Given the description of an element on the screen output the (x, y) to click on. 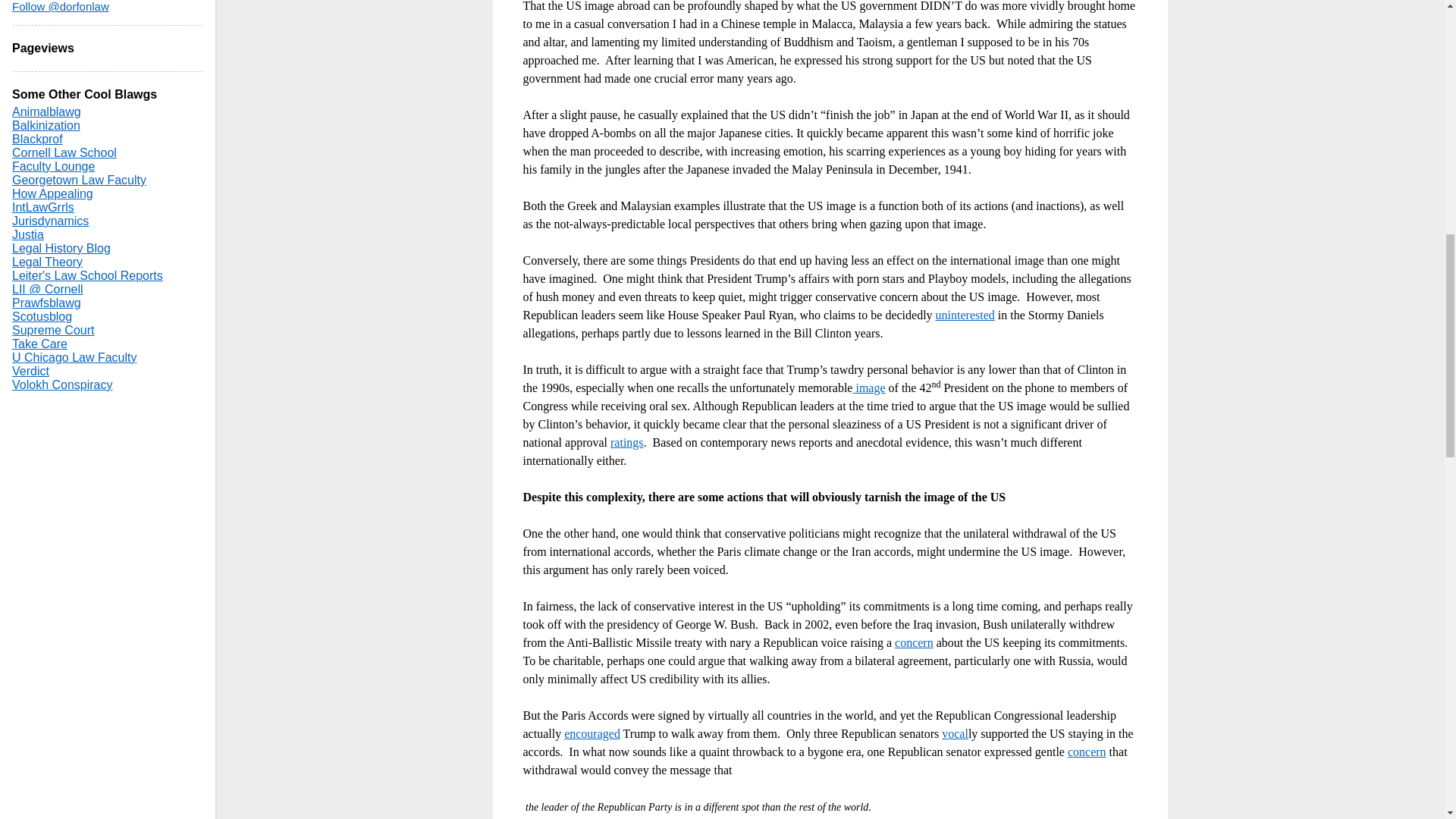
image (868, 386)
concern (1086, 750)
uninterested (965, 314)
encouraged (592, 732)
concern (914, 641)
ratings (626, 440)
vocal (955, 732)
